Given the description of an element on the screen output the (x, y) to click on. 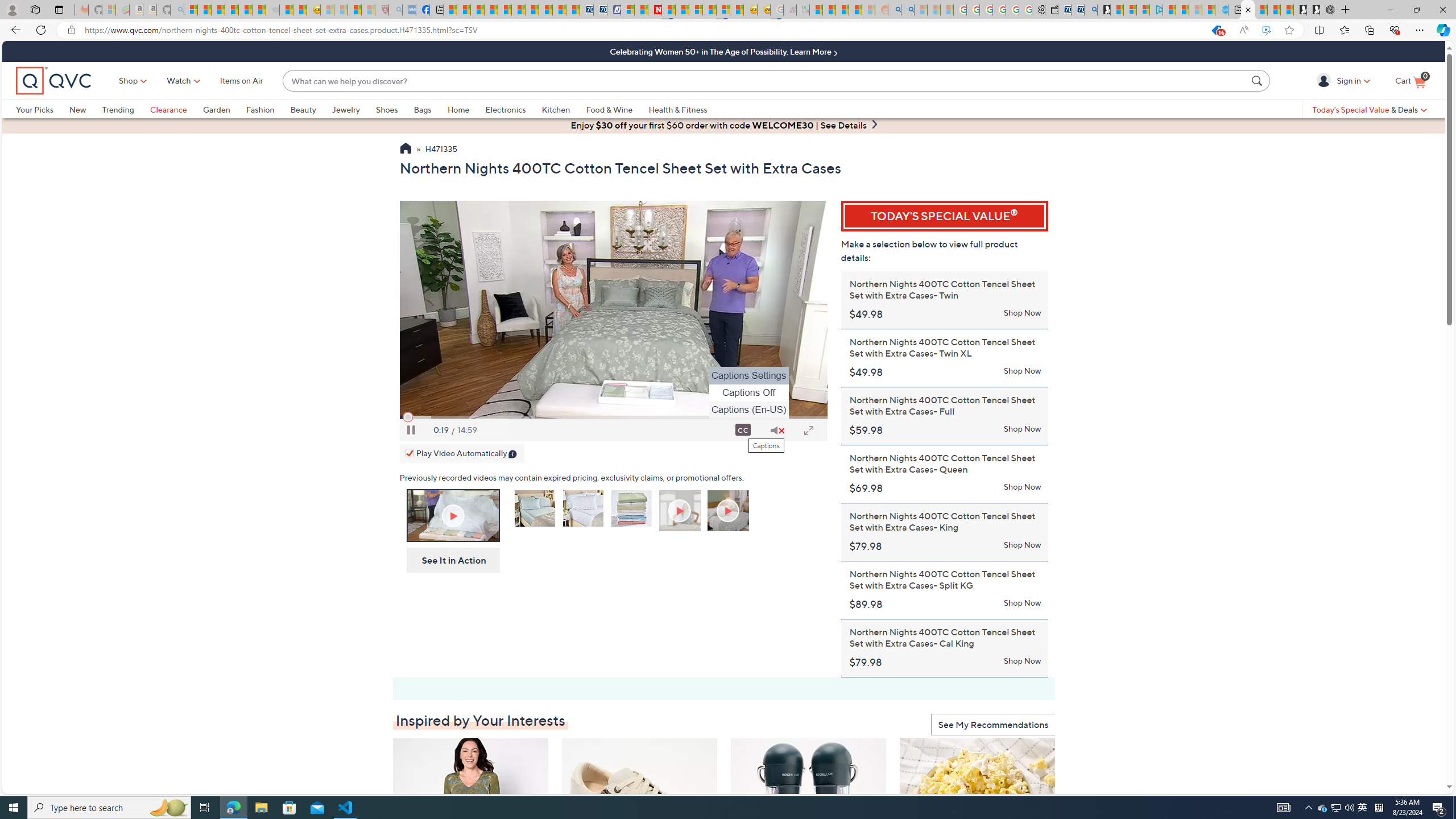
Pause (411, 429)
Food & Wine (617, 109)
Beauty (310, 109)
QVC home (53, 80)
See It in Action (449, 560)
Your Picks (42, 109)
